Given the description of an element on the screen output the (x, y) to click on. 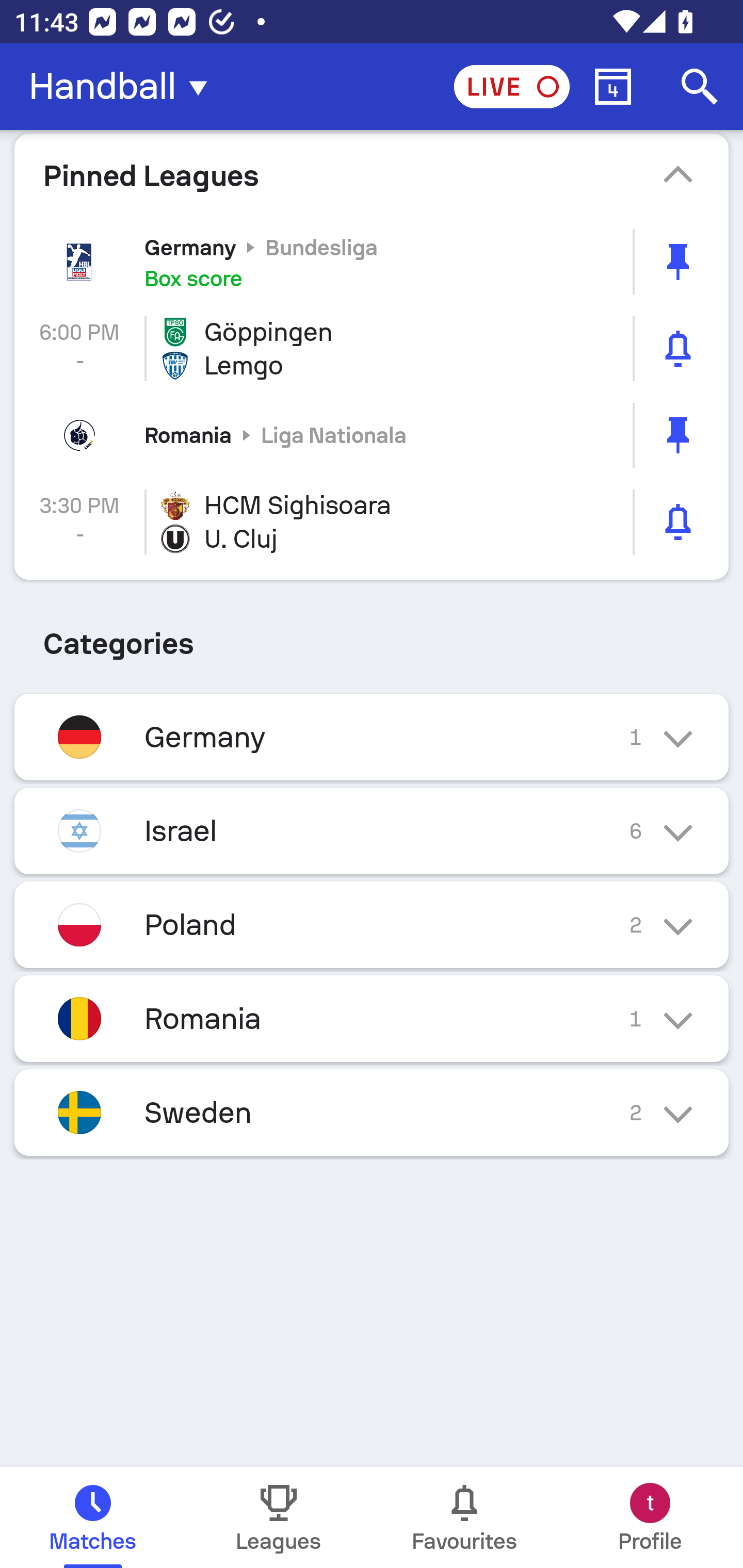
Handball (124, 86)
Calendar (612, 86)
Search (699, 86)
Pinned Leagues (371, 175)
Germany Bundesliga Box score (371, 261)
6:00 PM - Göppingen Lemgo (371, 348)
Romania Liga Nationala (371, 435)
3:30 PM - HCM Sighisoara U. Cluj (371, 522)
Categories (371, 636)
Germany 1 (371, 736)
Israel 6 (371, 830)
Poland 2 (371, 924)
Romania 1 (371, 1018)
Sweden 2 (371, 1112)
Leagues (278, 1517)
Favourites (464, 1517)
Profile (650, 1517)
